Given the description of an element on the screen output the (x, y) to click on. 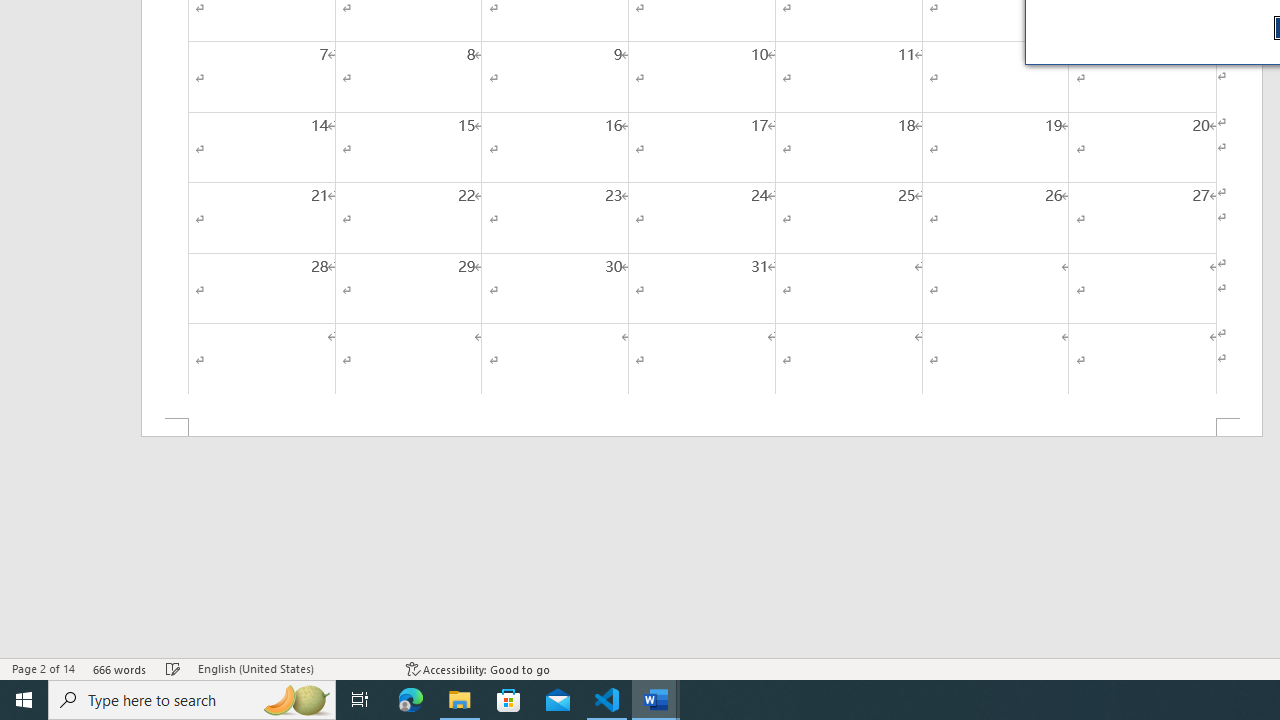
Footer -Section 1- (701, 427)
Microsoft Edge (411, 699)
